Given the description of an element on the screen output the (x, y) to click on. 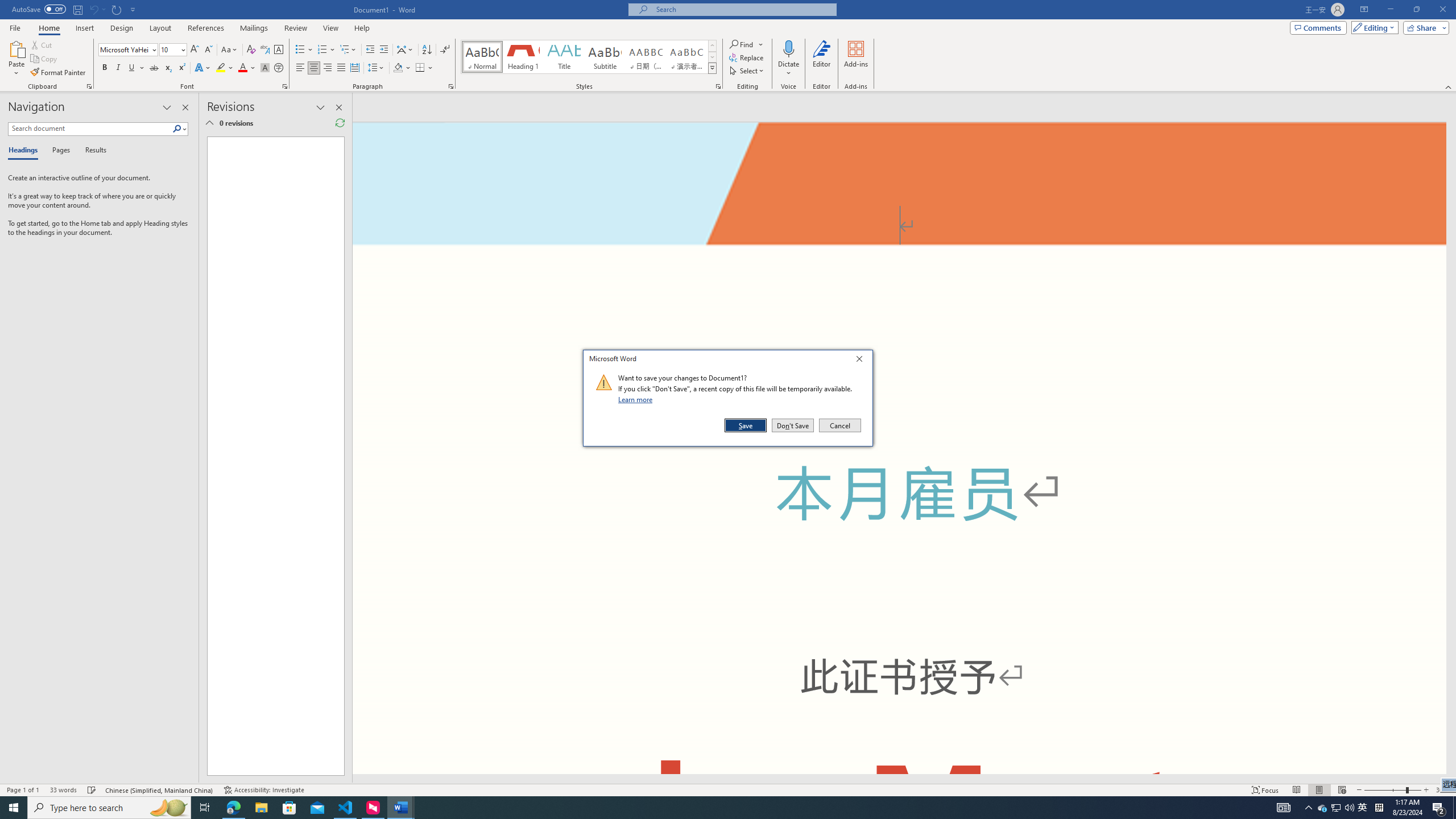
Page Number Page 1 of 1 (22, 790)
